Given the description of an element on the screen output the (x, y) to click on. 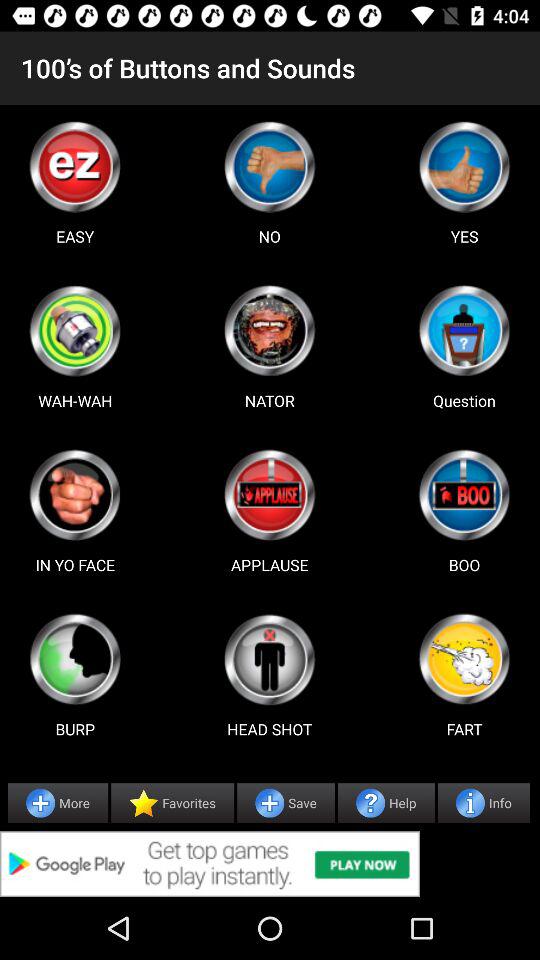
go to easy (75, 166)
